Given the description of an element on the screen output the (x, y) to click on. 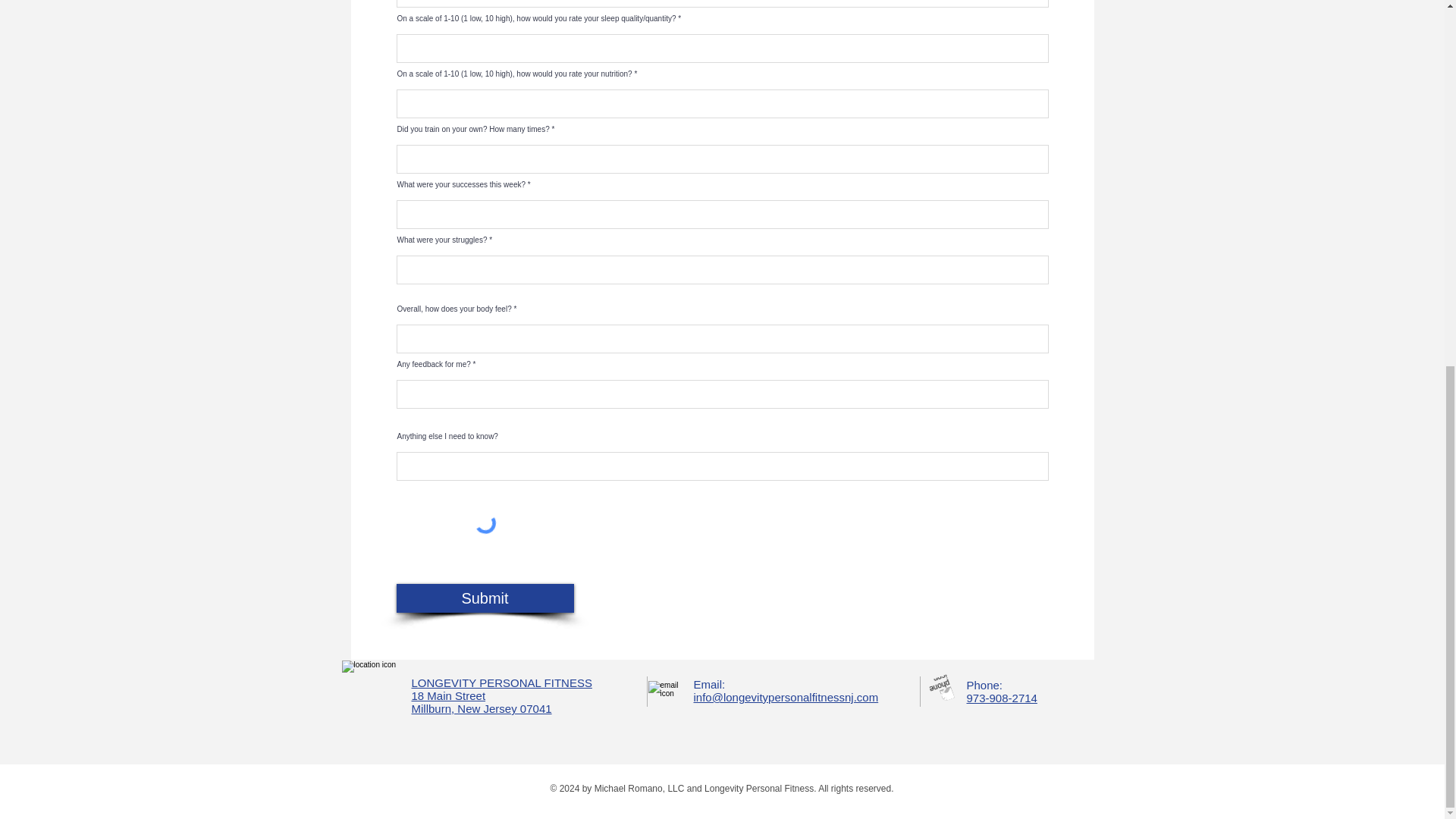
973-908-2714 (1001, 697)
Submit (484, 597)
